Given the description of an element on the screen output the (x, y) to click on. 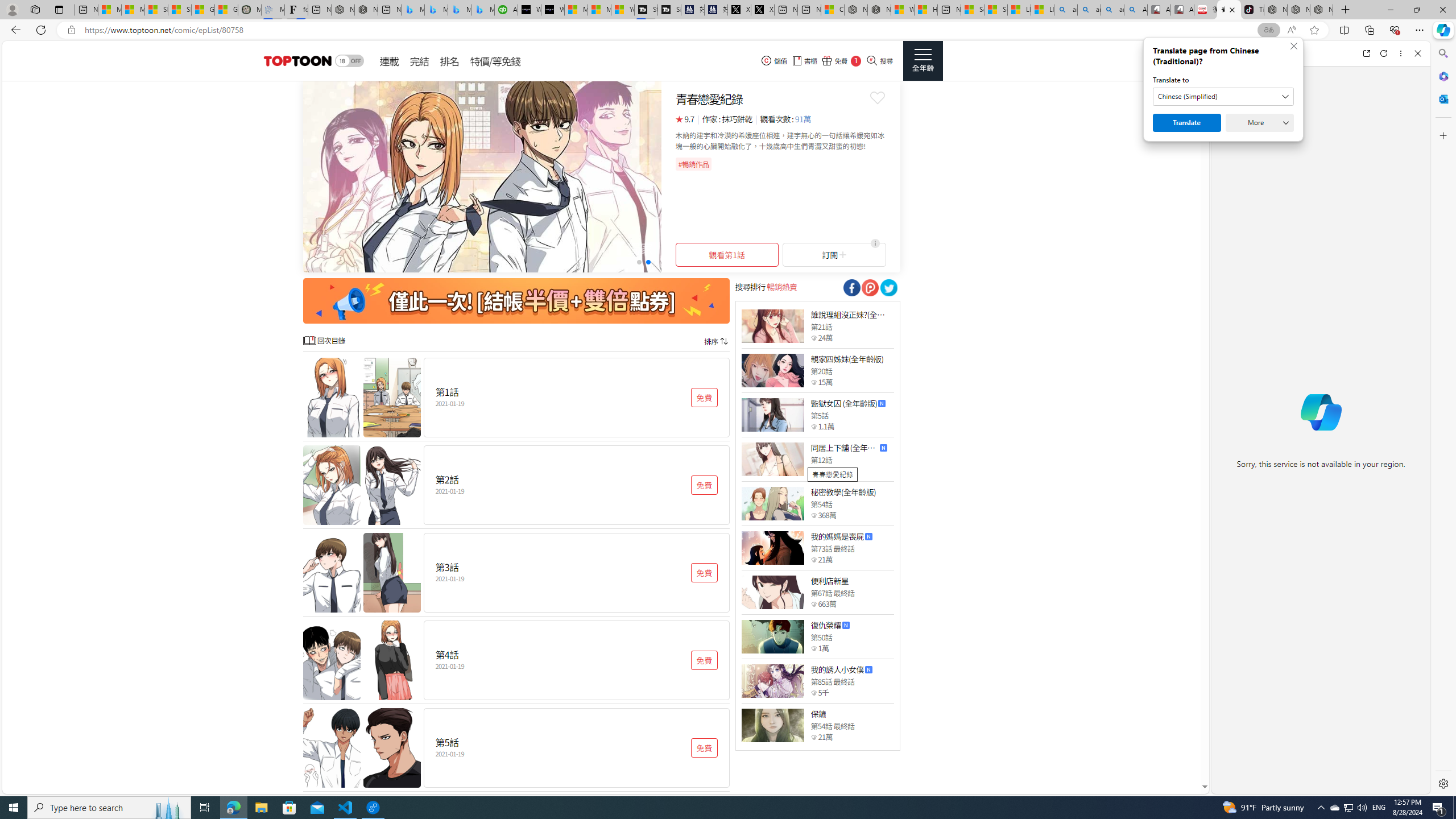
Class: side_menu_btn actionRightMenuBtn (922, 60)
Go to slide 2 (647, 261)
More (1259, 122)
Side bar (1443, 418)
Huge shark washes ashore at New York City beach | Watch (926, 9)
Class: swiper-slide swiper-slide-duplicate-active (481, 176)
Outlook (1442, 98)
